Given the description of an element on the screen output the (x, y) to click on. 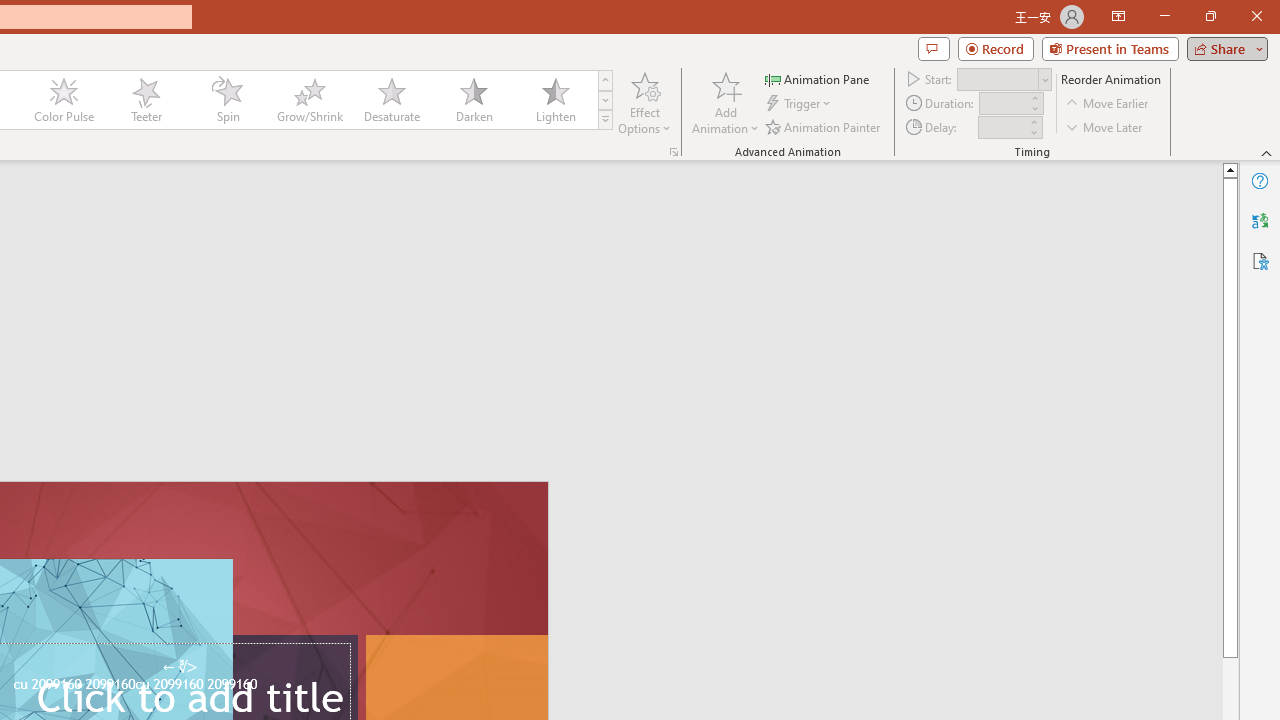
Animation Duration (1003, 103)
Lighten (555, 100)
Move Earlier (1107, 103)
Darken (473, 100)
Animation Painter (824, 126)
Trigger (799, 103)
More Options... (673, 151)
Move Later (1105, 126)
Grow/Shrink (309, 100)
